Given the description of an element on the screen output the (x, y) to click on. 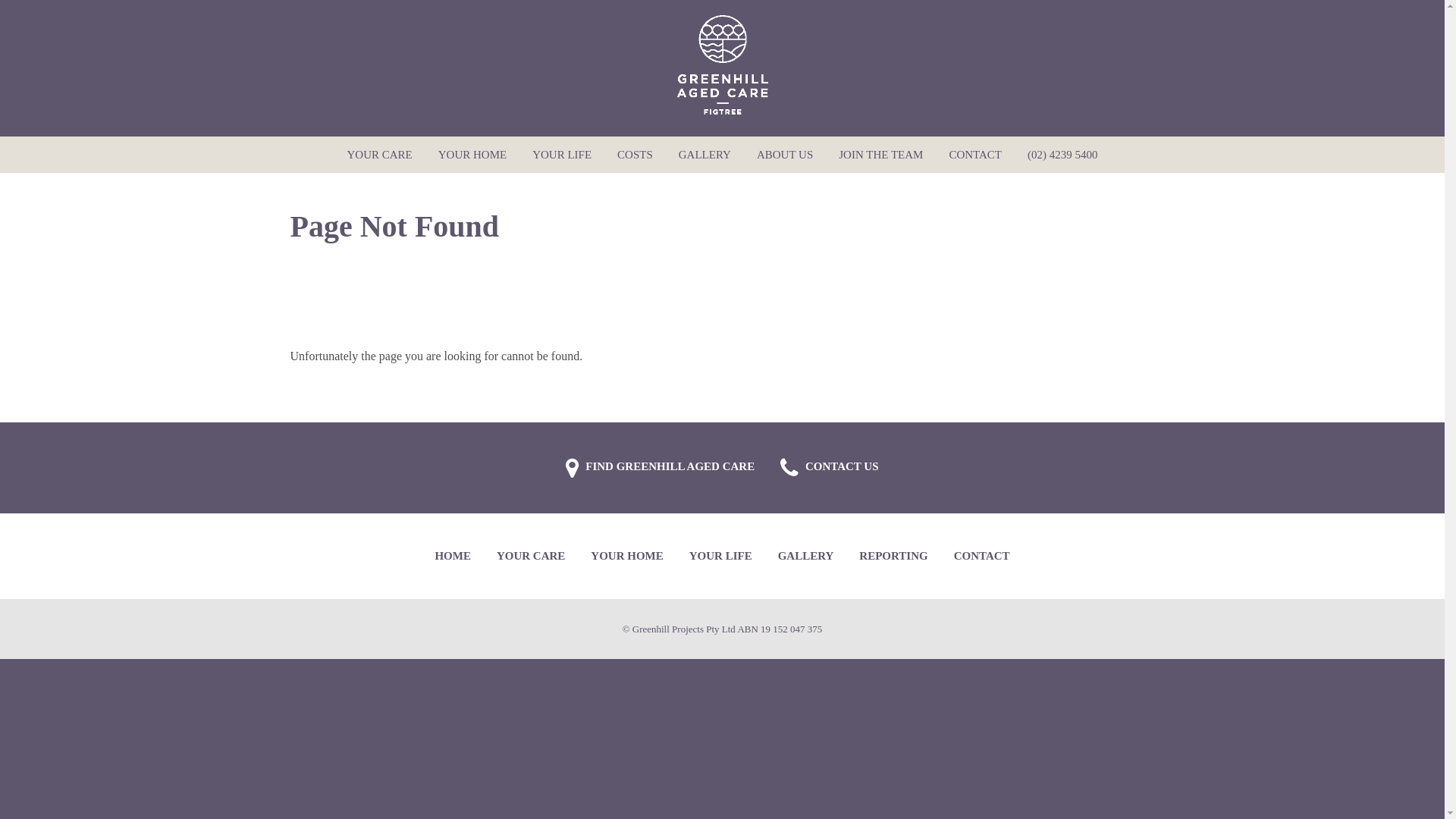
COSTS Element type: text (634, 154)
GALLERY Element type: text (704, 154)
YOUR LIFE Element type: text (720, 556)
YOUR LIFE Element type: text (561, 154)
(02) 4239 5400 Element type: text (1062, 154)
FIND GREENHILL AGED CARE Element type: text (659, 467)
CONTACT Element type: text (975, 154)
YOUR HOME Element type: text (471, 154)
JOIN THE TEAM Element type: text (880, 154)
GALLERY Element type: text (805, 556)
YOUR CARE Element type: text (379, 154)
ABOUT US Element type: text (784, 154)
YOUR CARE Element type: text (530, 556)
CONTACT Element type: text (981, 556)
REPORTING Element type: text (892, 556)
CONTACT US Element type: text (828, 467)
HOME Element type: text (452, 556)
YOUR HOME Element type: text (626, 556)
